Given the description of an element on the screen output the (x, y) to click on. 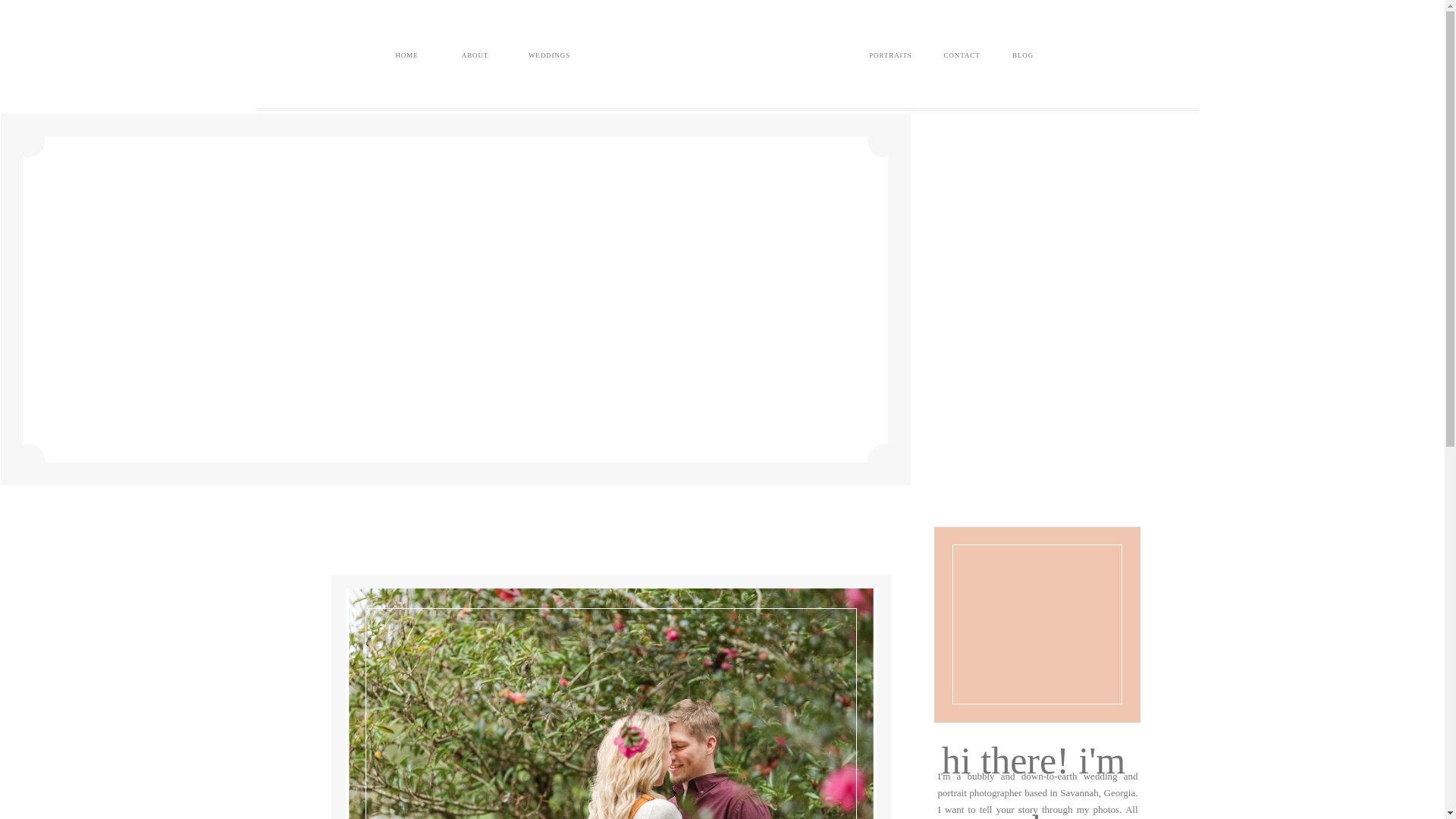
WEDDINGS (548, 56)
PORTRAITS (890, 56)
HOME (405, 56)
BLOG (1021, 56)
CONTACT (961, 56)
ABOUT (474, 56)
